Given the description of an element on the screen output the (x, y) to click on. 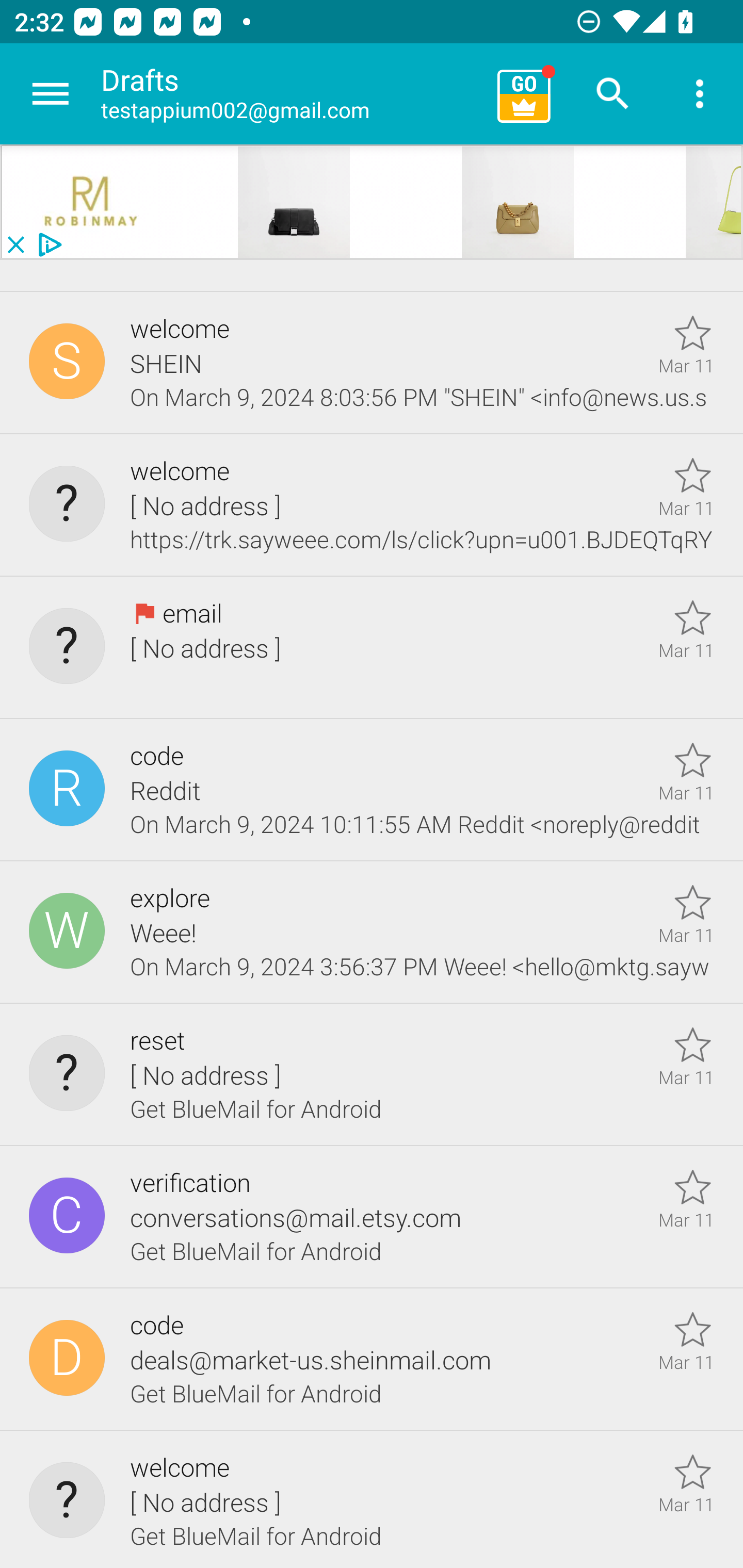
Navigate up (50, 93)
Drafts testappium002@gmail.com (291, 93)
Search (612, 93)
More options (699, 93)
   (91, 202)
   (293, 202)
   (517, 202)
close_button (14, 245)
privacy_small (47, 245)
email, [ No address ], Mar 11 (371, 648)
